Given the description of an element on the screen output the (x, y) to click on. 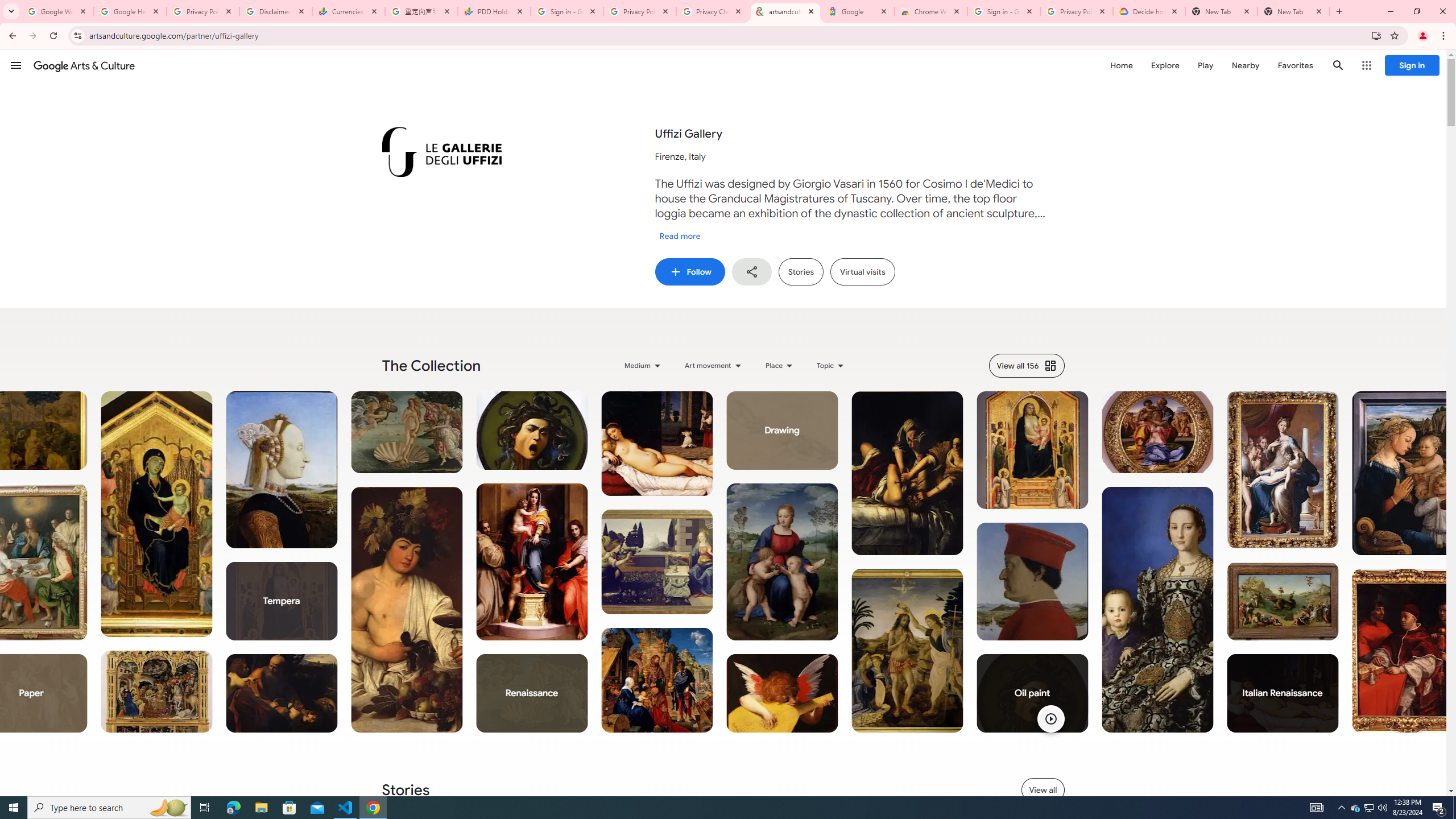
Explore (1164, 65)
Read more (679, 236)
Favorites (1295, 65)
Nearby (1244, 65)
artsandculture.google.com/partner/uffizi-gallery (785, 11)
Sign in - Google Accounts (1003, 11)
Privacy Checkup (712, 11)
View all (1043, 789)
